Given the description of an element on the screen output the (x, y) to click on. 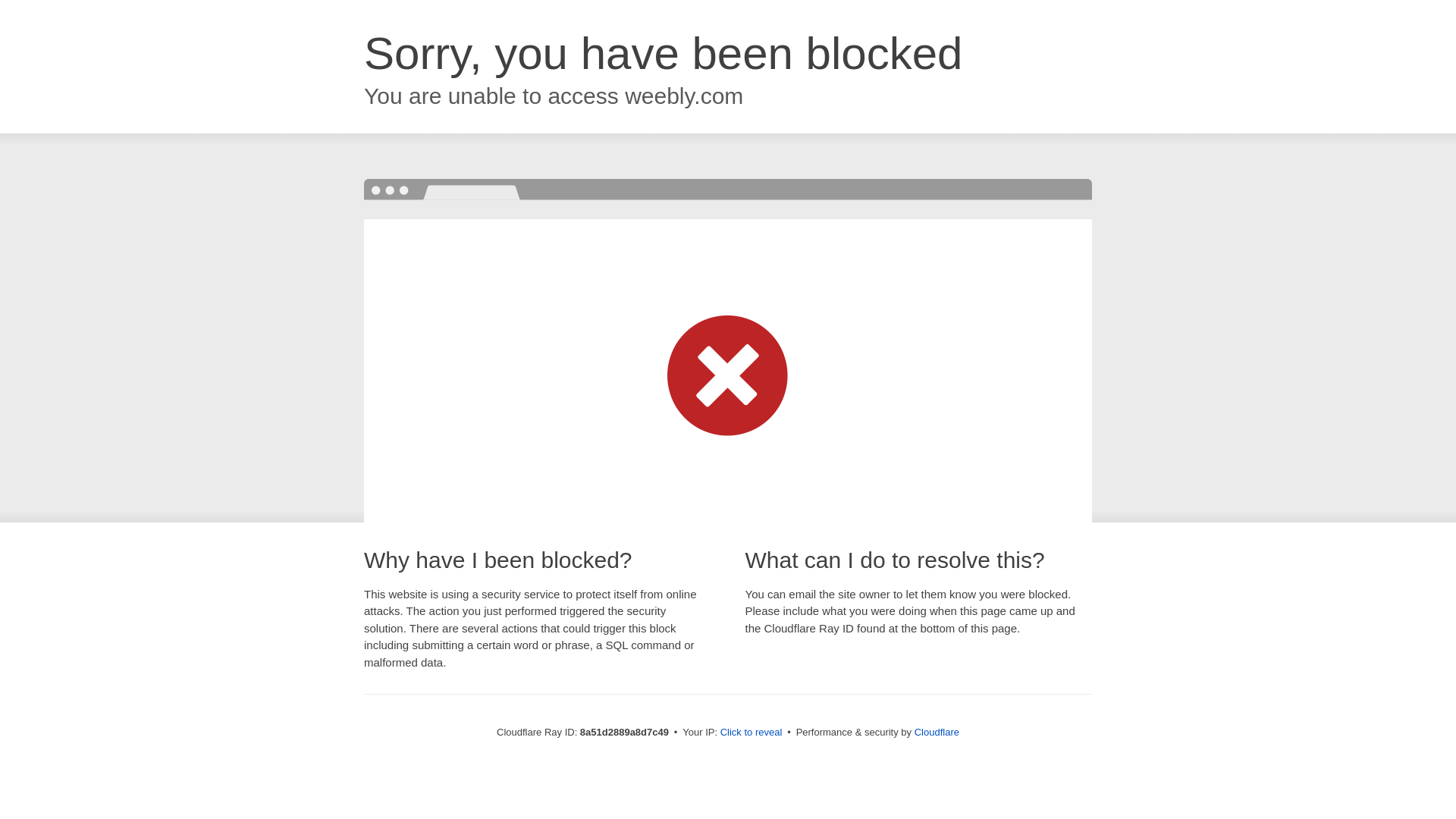
Cloudflare (936, 731)
Click to reveal (751, 732)
